Given the description of an element on the screen output the (x, y) to click on. 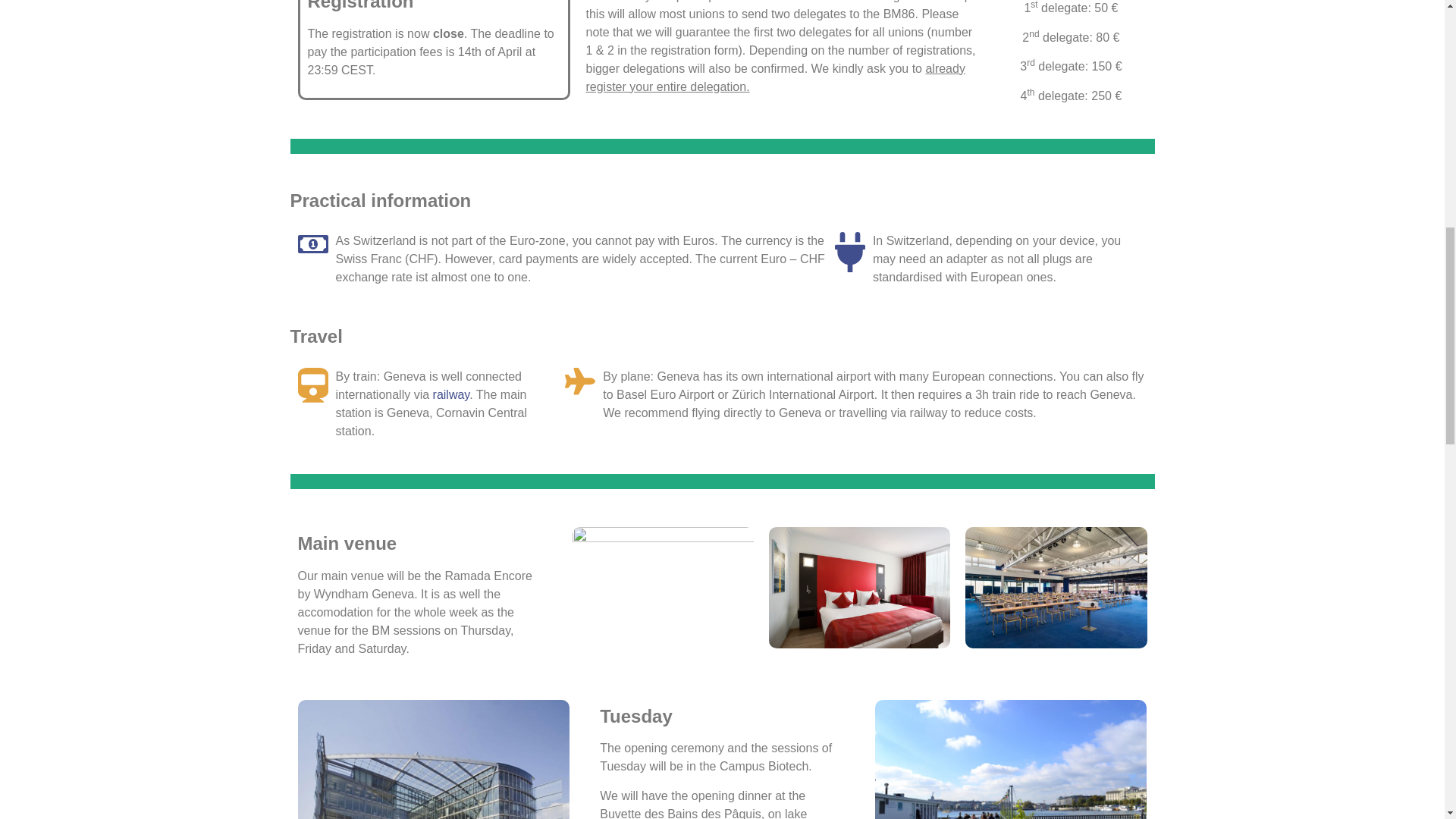
railway (451, 394)
